Given the description of an element on the screen output the (x, y) to click on. 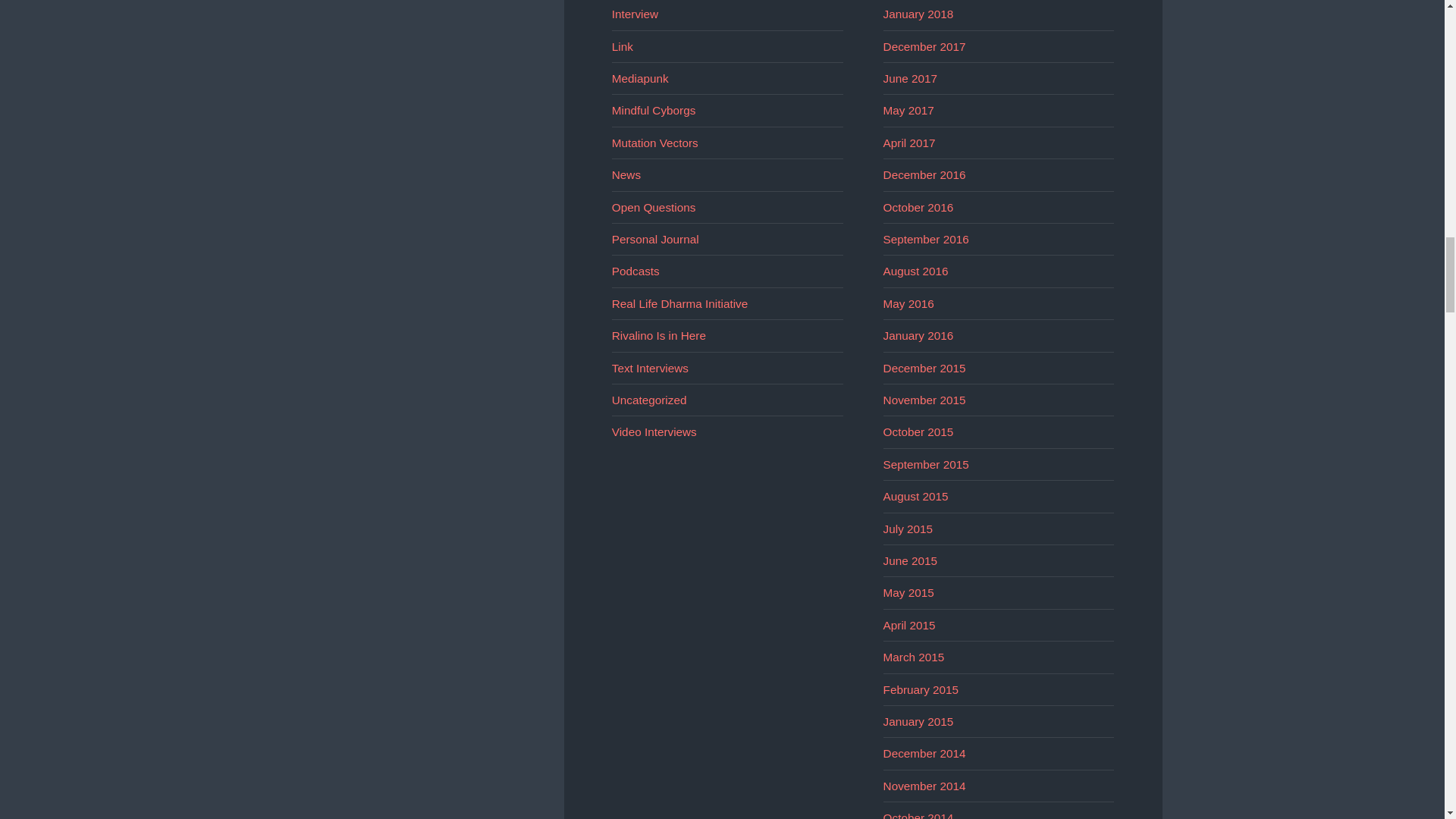
Mediapunk (639, 78)
Link (622, 45)
News (625, 174)
Mutation Vectors (654, 142)
Interview (634, 13)
Mindful Cyborgs (653, 110)
